Given the description of an element on the screen output the (x, y) to click on. 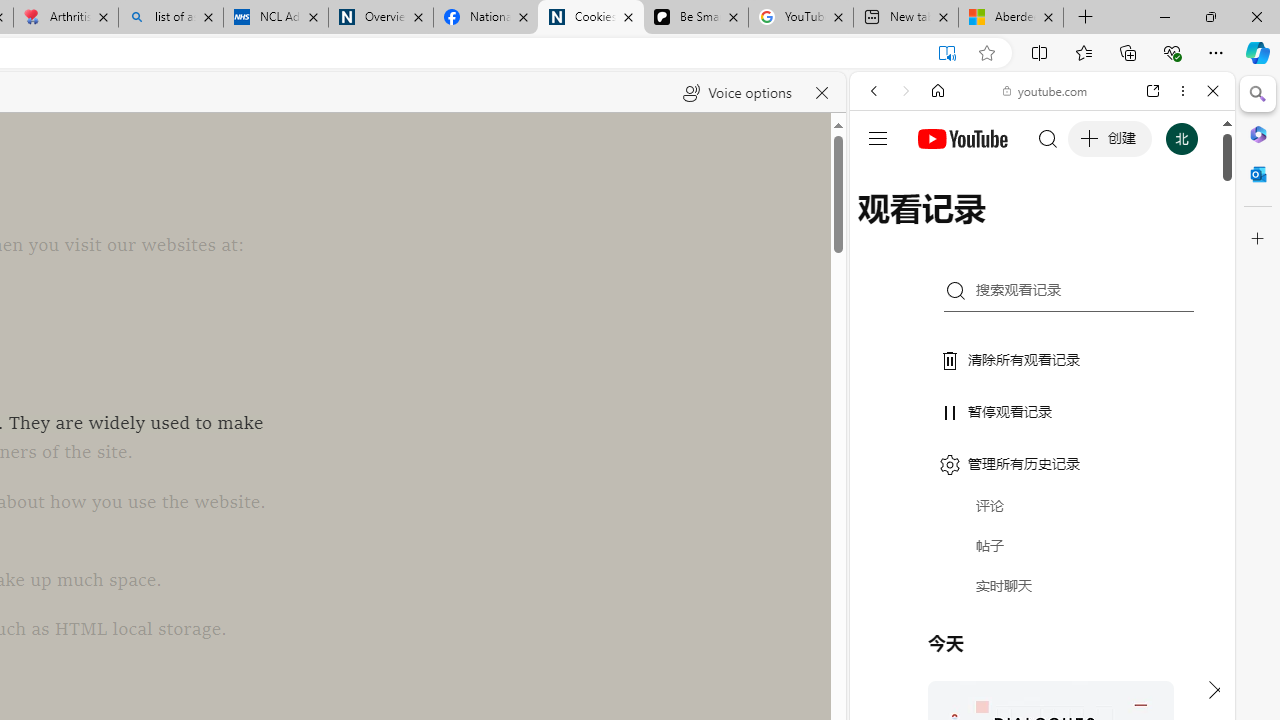
Music (1042, 543)
Aberdeen, Hong Kong SAR hourly forecast | Microsoft Weather (1010, 17)
#you (1042, 445)
Google (1042, 494)
WEB   (882, 228)
Google (1042, 494)
Close read aloud (821, 92)
